Given the description of an element on the screen output the (x, y) to click on. 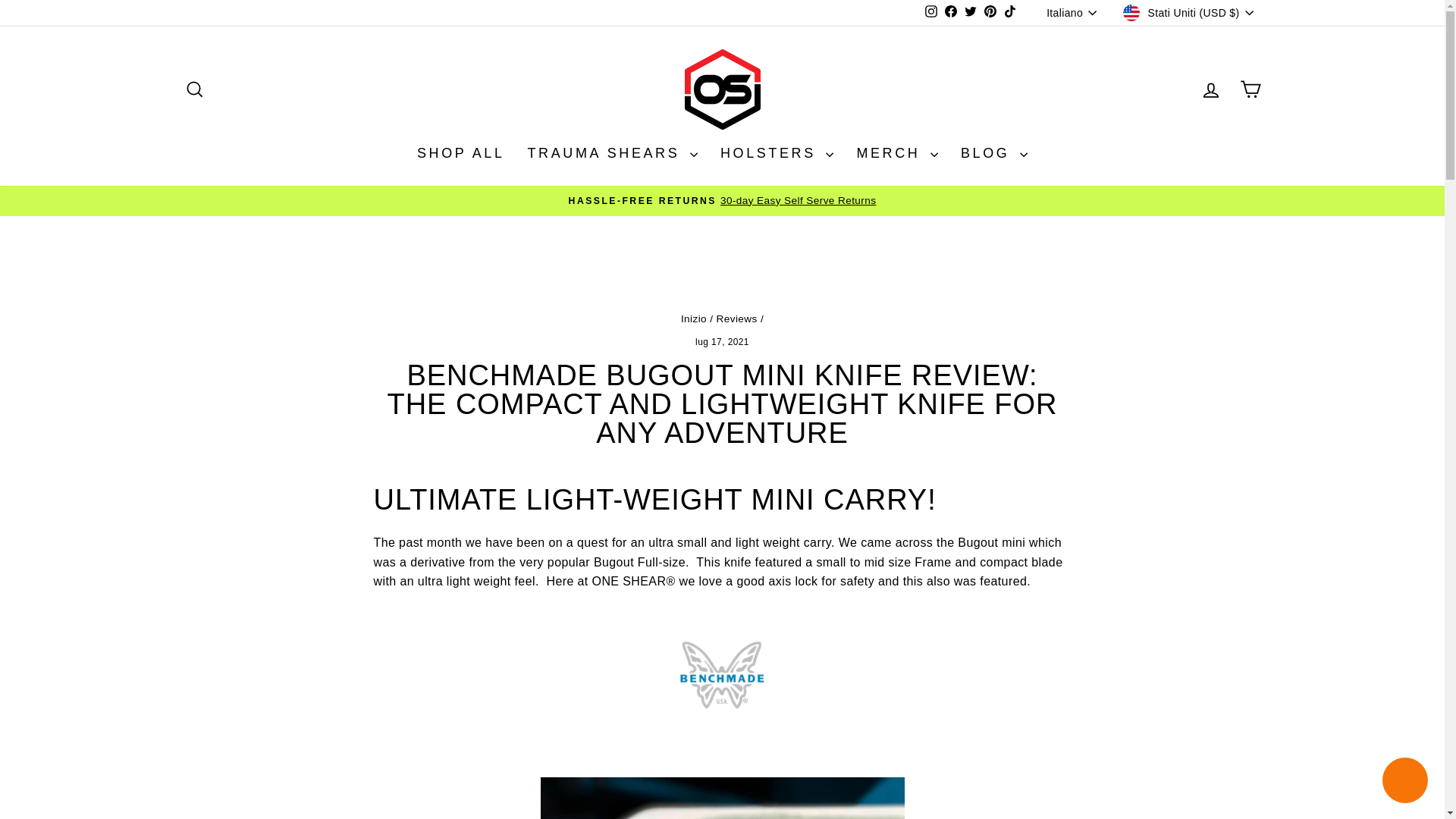
Italiano (1072, 12)
ICON-SEARCH (194, 88)
instagram (930, 10)
Torna alla prima pagina (693, 318)
twitter (969, 10)
ACCOUNT (1210, 89)
